Given the description of an element on the screen output the (x, y) to click on. 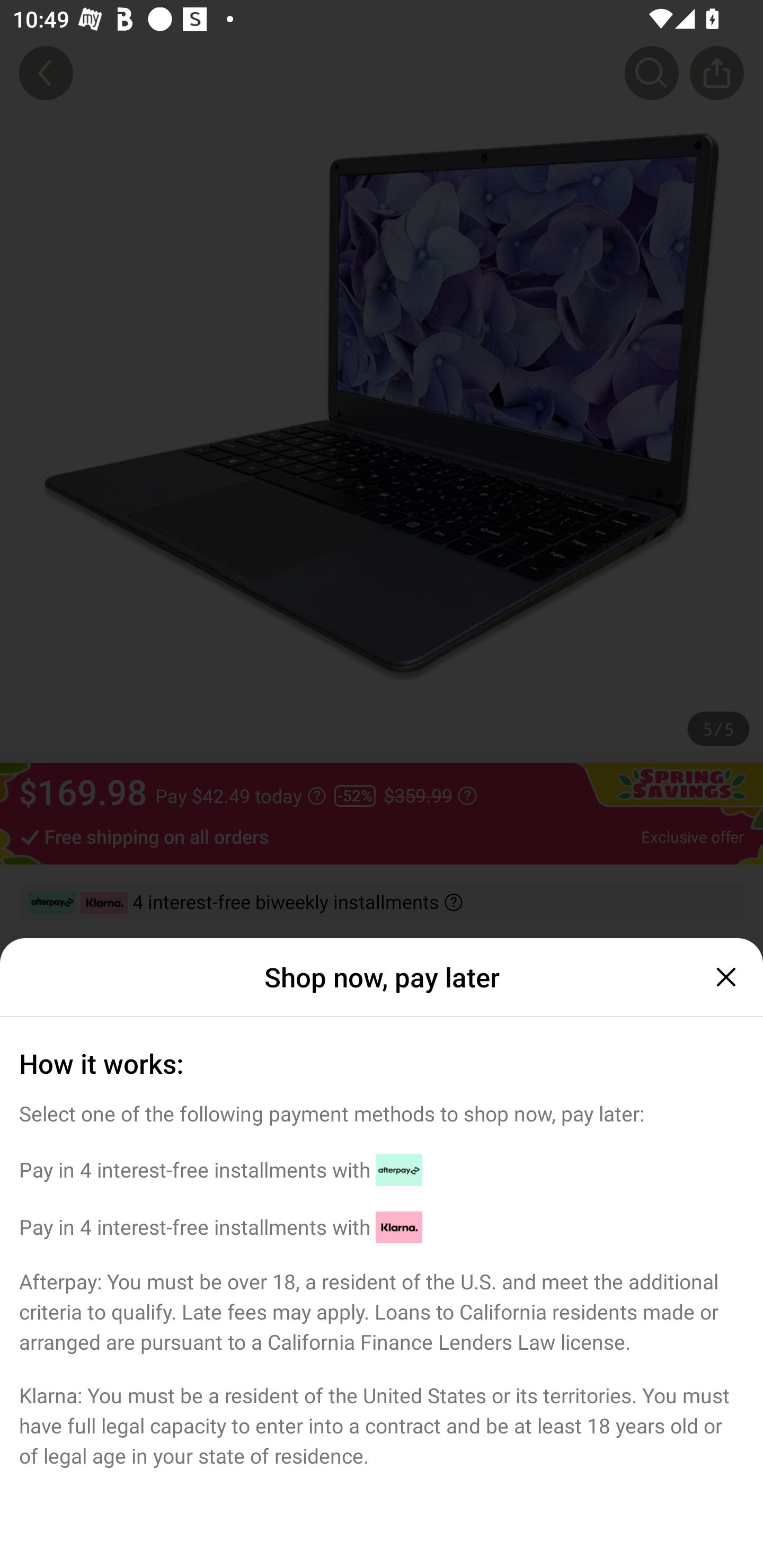
close (724, 976)
